Given the description of an element on the screen output the (x, y) to click on. 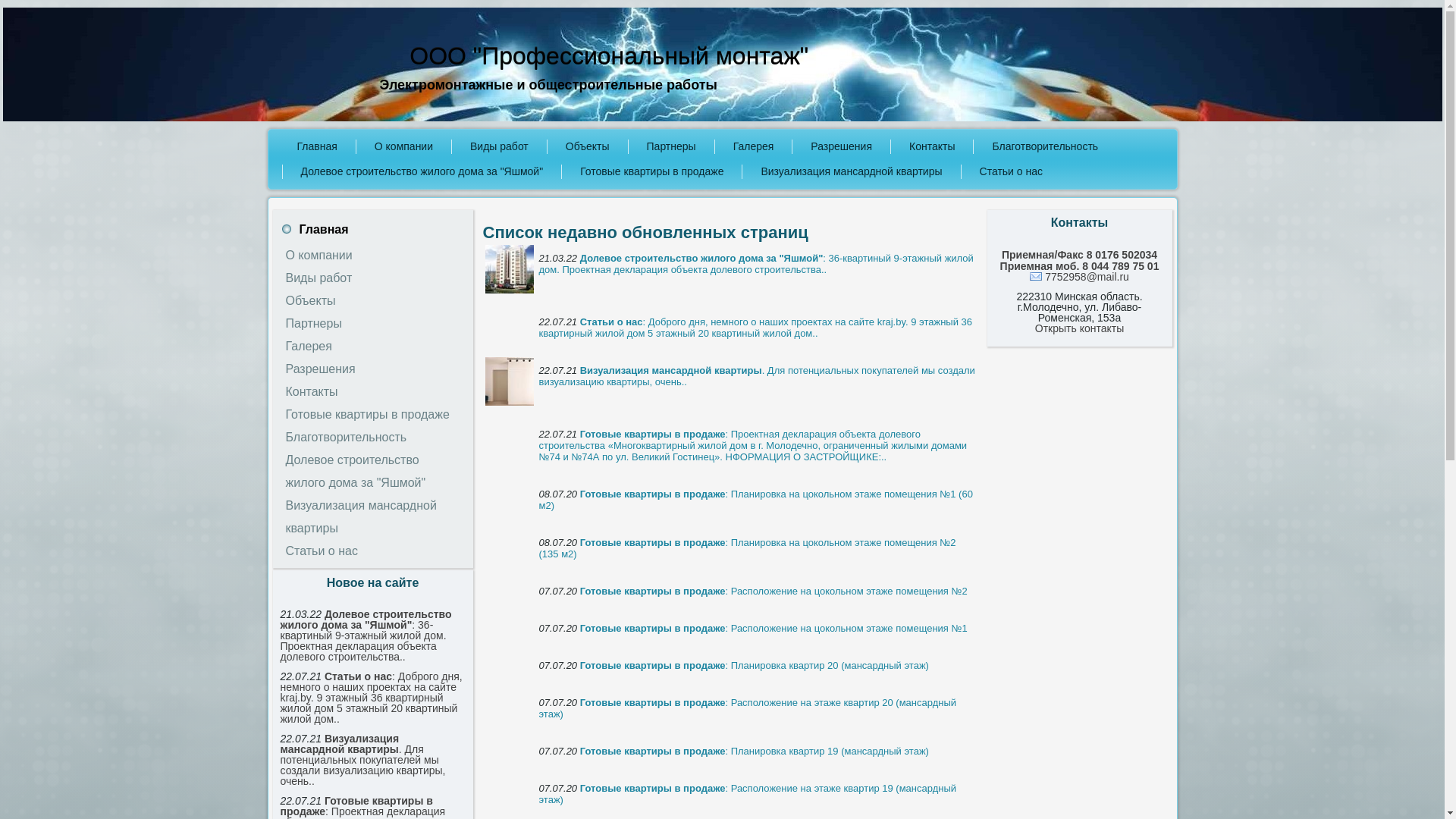
7752958@mail.ru Element type: text (1079, 276)
